Given the description of an element on the screen output the (x, y) to click on. 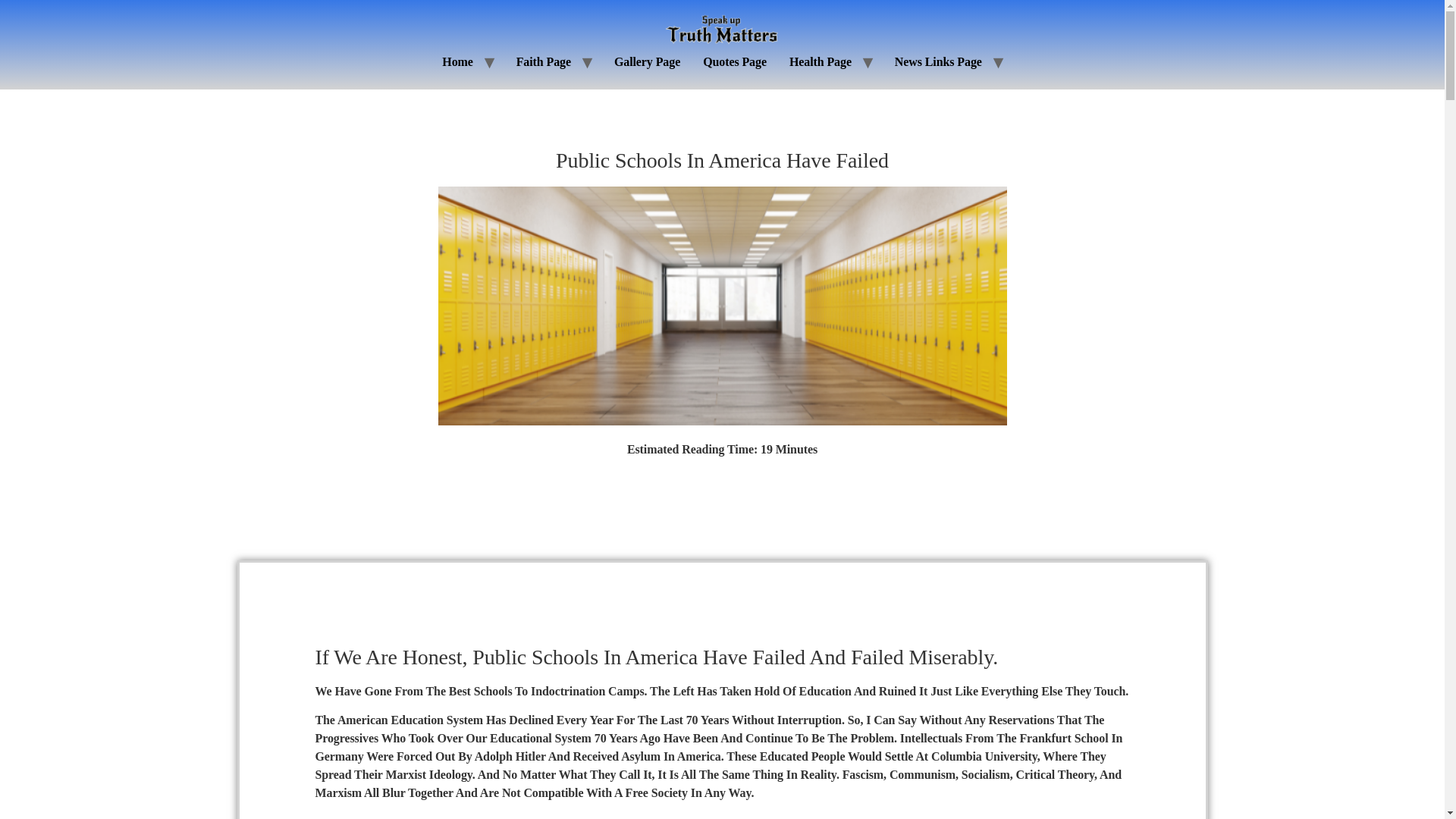
Quotes Page (734, 61)
Gallery Page (646, 61)
Faith Page (543, 61)
News Links Page (937, 61)
Health Page (820, 61)
Home (456, 61)
